Given the description of an element on the screen output the (x, y) to click on. 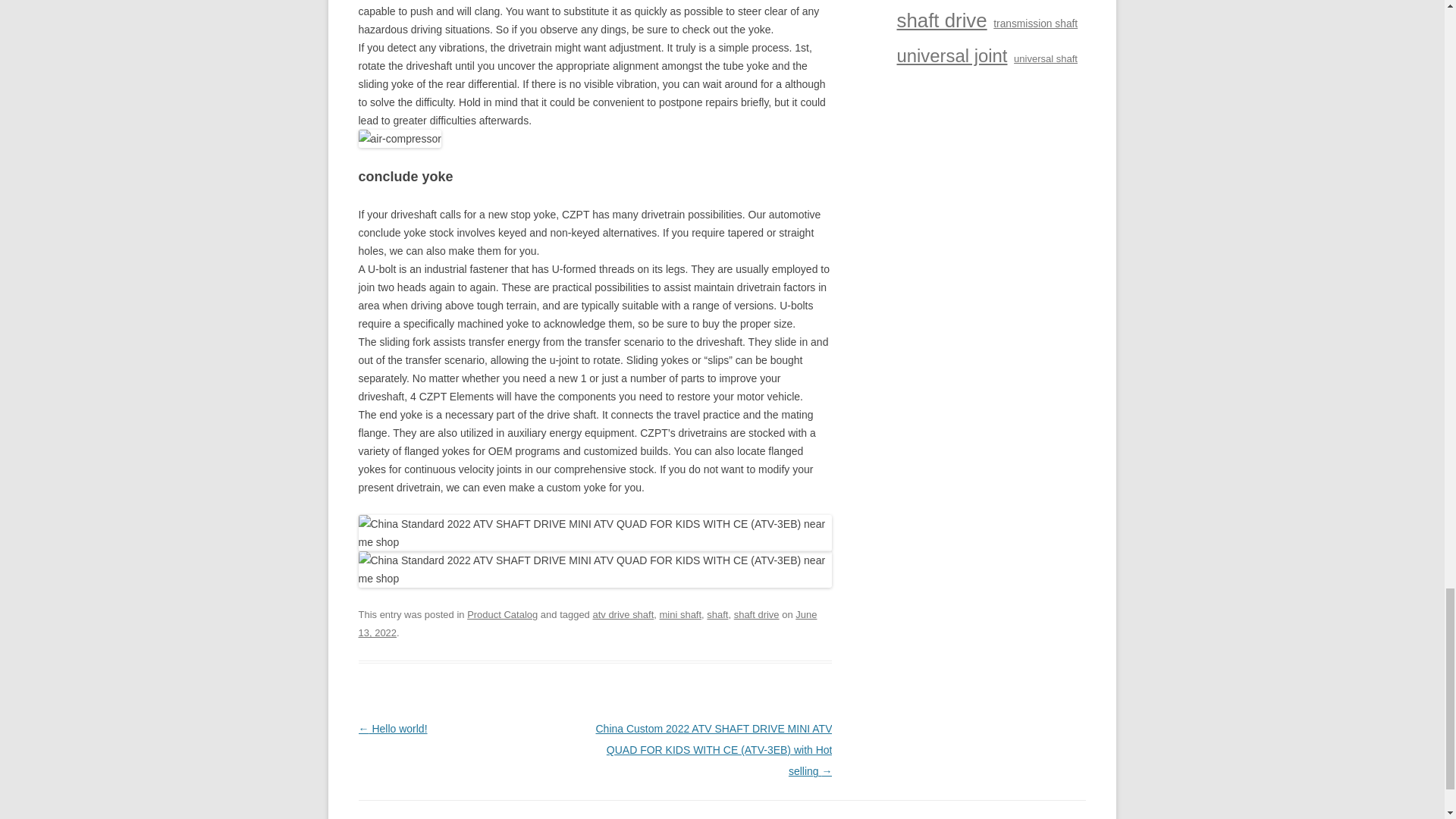
shaft drive (755, 614)
7:32 am (587, 623)
atv drive shaft (622, 614)
shaft (717, 614)
Product Catalog (502, 614)
June 13, 2022 (587, 623)
mini shaft (680, 614)
